Given the description of an element on the screen output the (x, y) to click on. 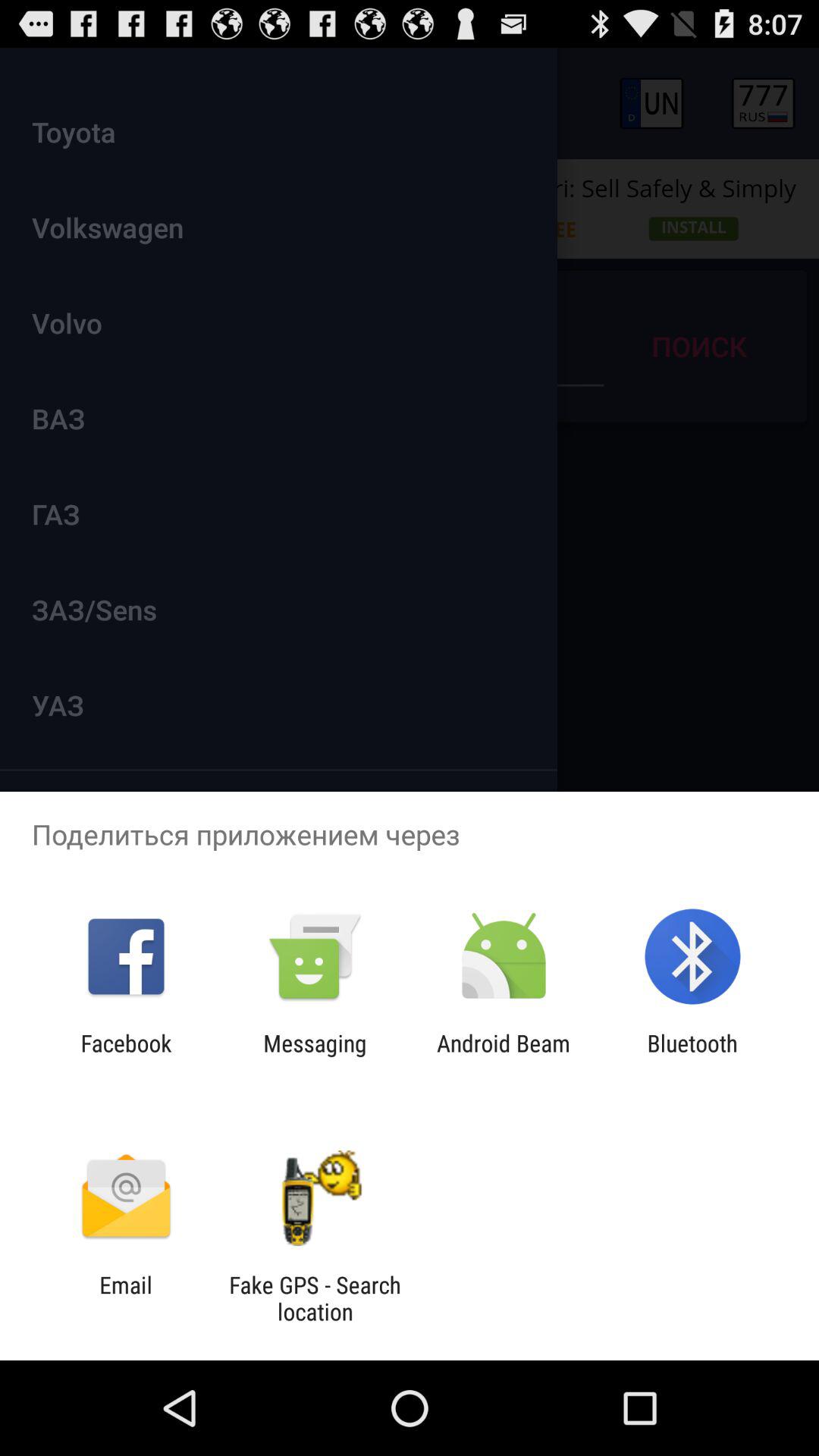
press the icon next to messaging (503, 1056)
